Given the description of an element on the screen output the (x, y) to click on. 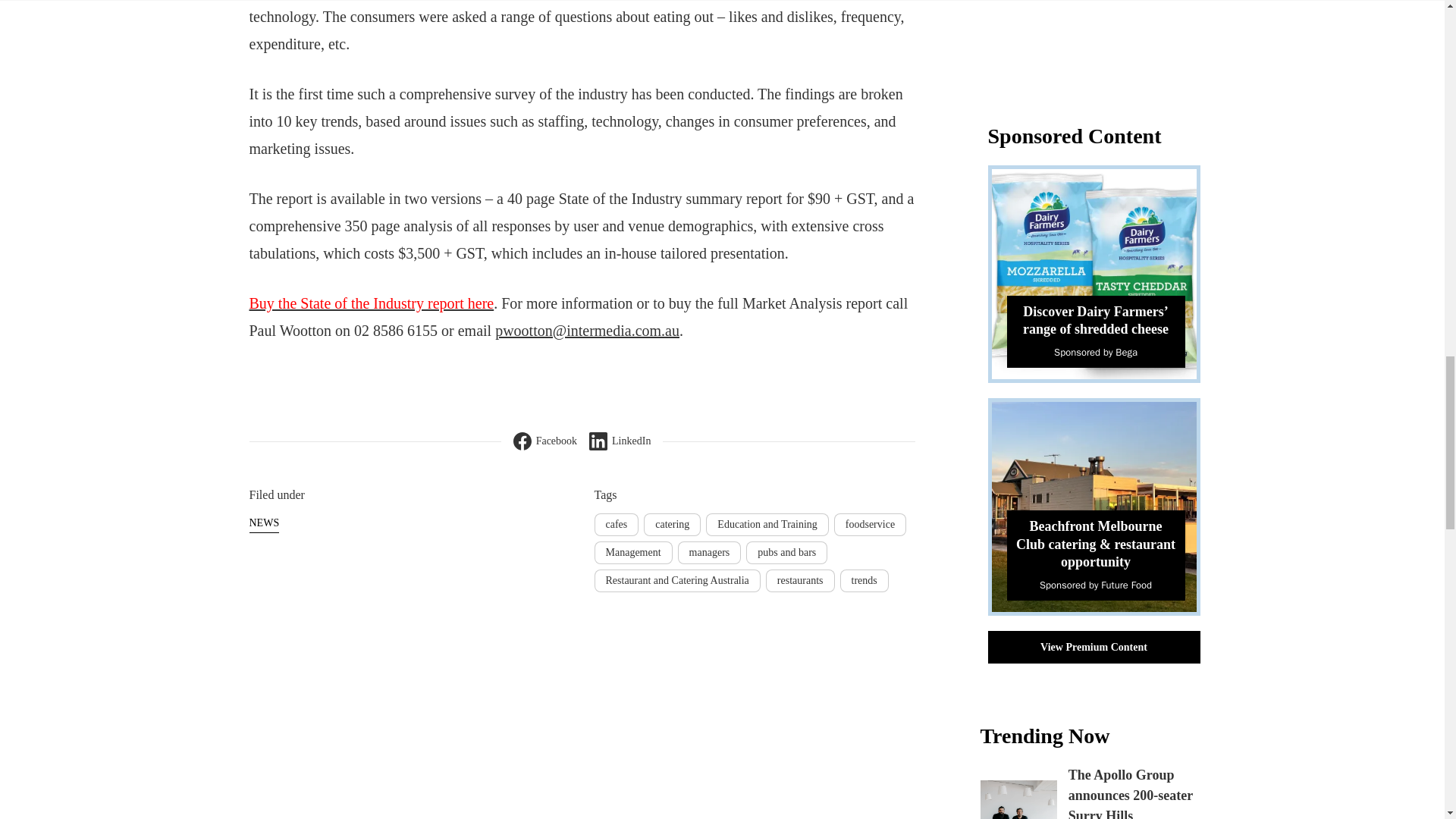
The Apollo Group announces 200-seater Surry Hills restaurant (1018, 799)
LinkedIn (619, 441)
Buy the State of the Industry report here (370, 303)
catering (671, 524)
The Apollo Group announces 200-seater Surry Hills restaurant (1130, 793)
3rd party ad content (1100, 43)
NEWS (263, 523)
cafes (616, 524)
Facebook (544, 441)
